Given the description of an element on the screen output the (x, y) to click on. 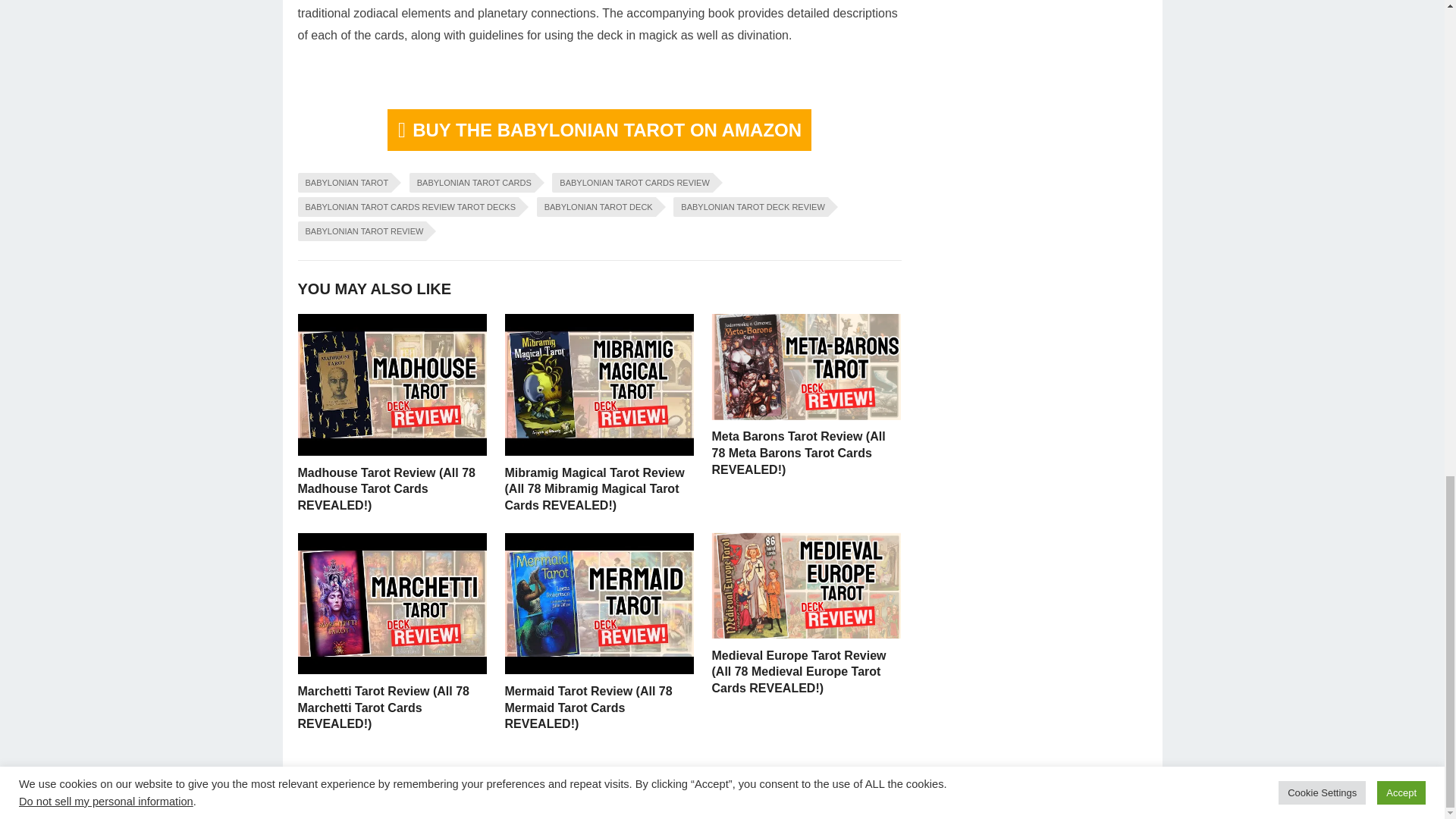
BABYLONIAN TAROT (344, 182)
BABYLONIAN TAROT DECK (596, 207)
BABYLONIAN TAROT CARDS REVIEW TAROT DECKS (407, 207)
BABYLONIAN TAROT DECK REVIEW (750, 207)
BABYLONIAN TAROT CARDS REVIEW (631, 182)
BABYLONIAN TAROT REVIEW (361, 230)
BABYLONIAN TAROT CARDS (471, 182)
BUY THE BABYLONIAN TAROT ON AMAZON (598, 129)
